Given the description of an element on the screen output the (x, y) to click on. 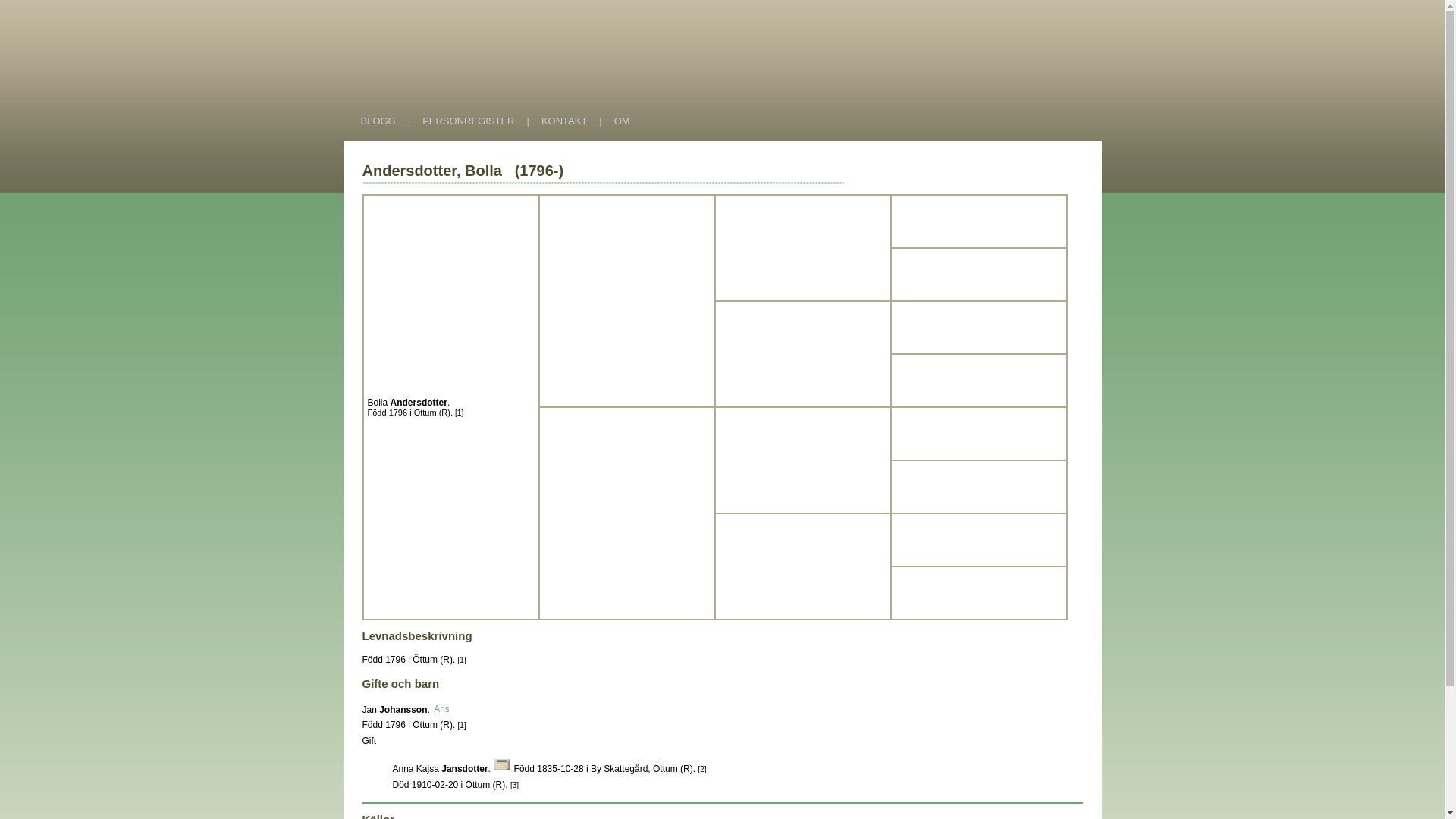
OM Element type: text (622, 120)
BLOGG Element type: text (377, 120)
KONTAKT Element type: text (563, 120)
PERSONREGISTER Element type: text (468, 120)
